Given the description of an element on the screen output the (x, y) to click on. 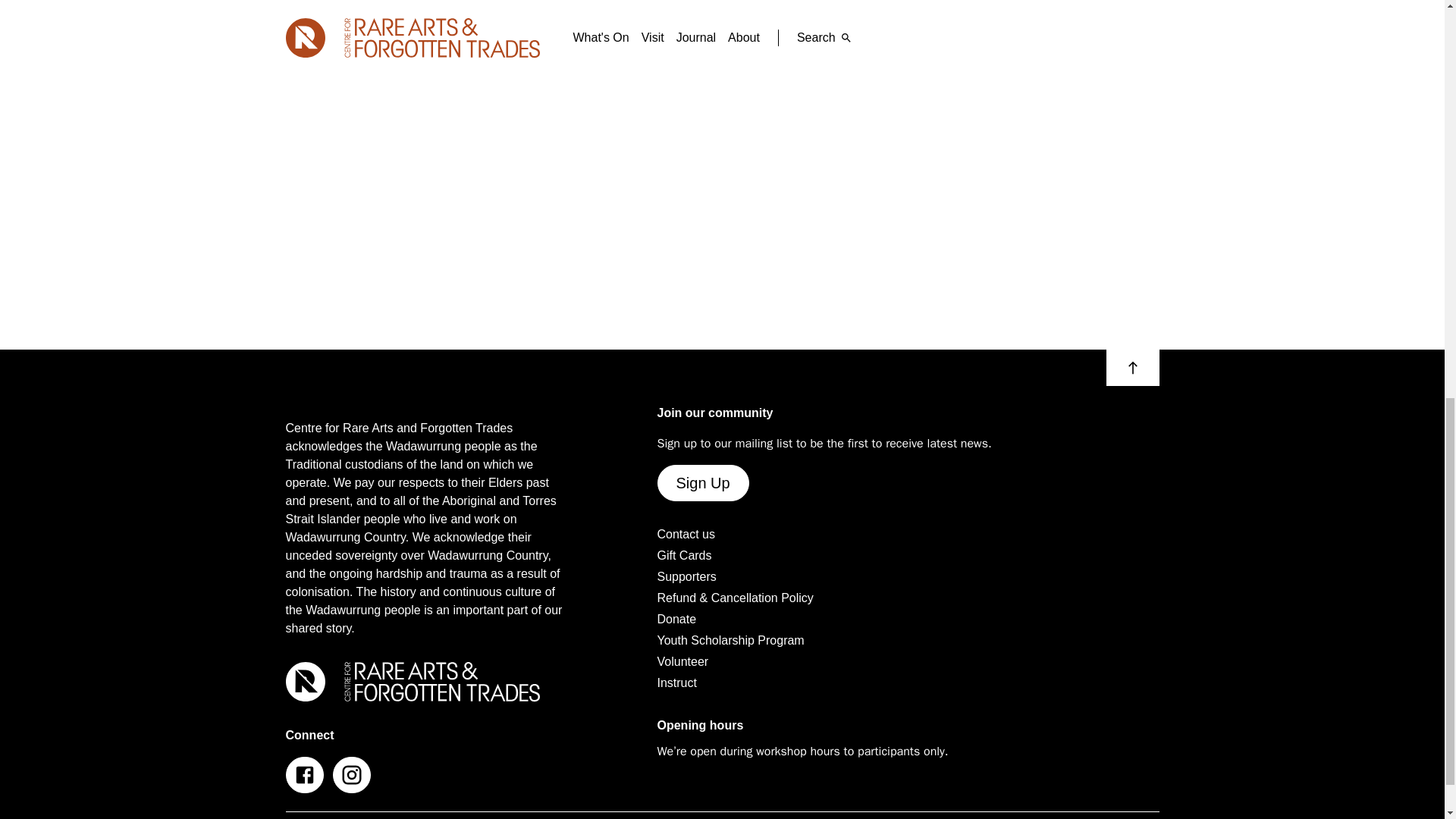
Gift Cards (683, 556)
Instruct (675, 683)
Donate (675, 619)
Supporters (686, 577)
Youth Scholarship Program (729, 640)
Volunteer (681, 661)
Sign Up (702, 483)
Contact us (685, 534)
